Given the description of an element on the screen output the (x, y) to click on. 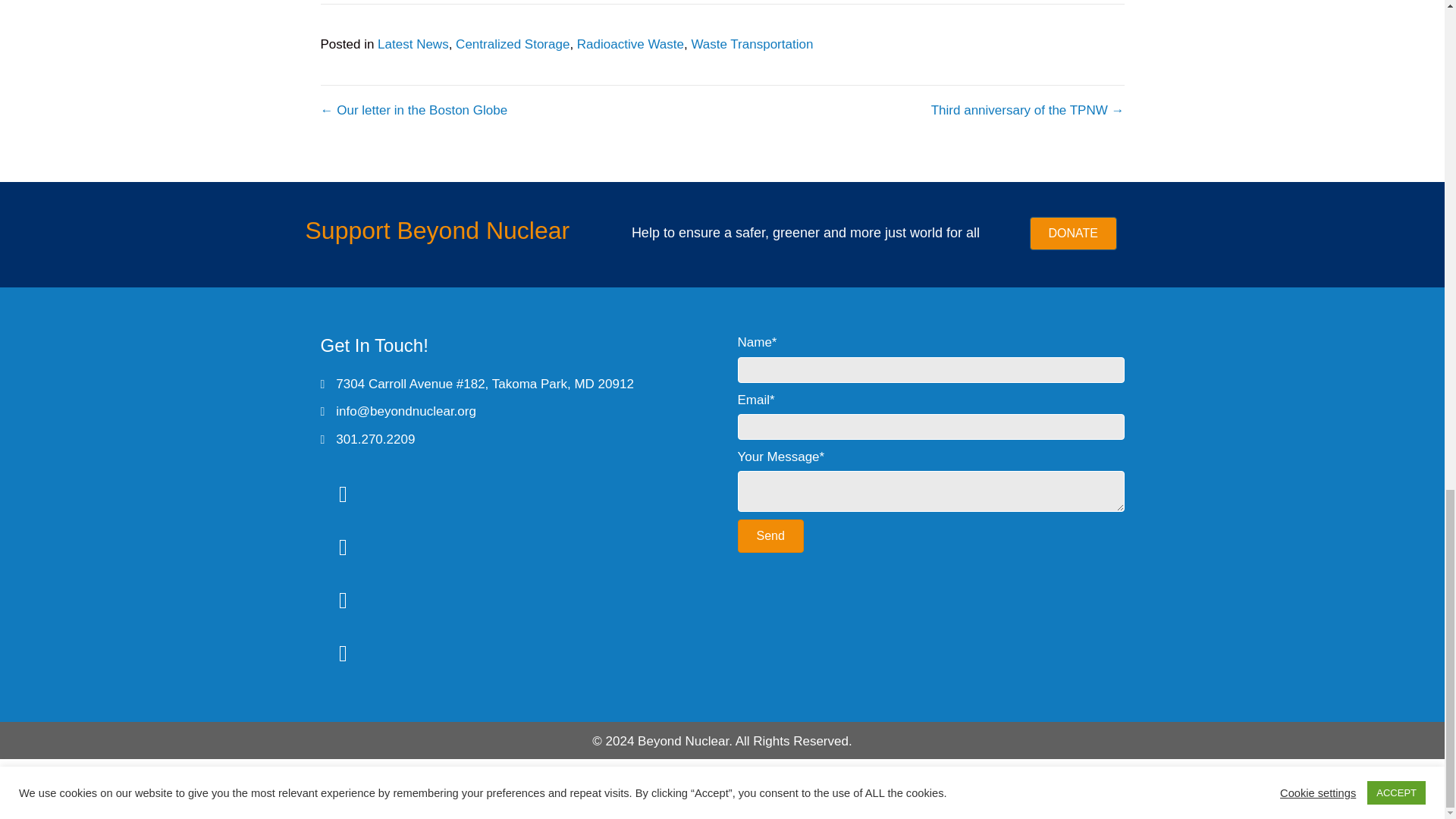
Facebook (342, 547)
Radioactive Waste (630, 43)
Waste Transportation (751, 43)
Twitter (342, 493)
Latest News (412, 43)
Vimeo (342, 653)
YouTube (342, 600)
Centralized Storage (512, 43)
Send (769, 535)
DONATE (1072, 233)
